Given the description of an element on the screen output the (x, y) to click on. 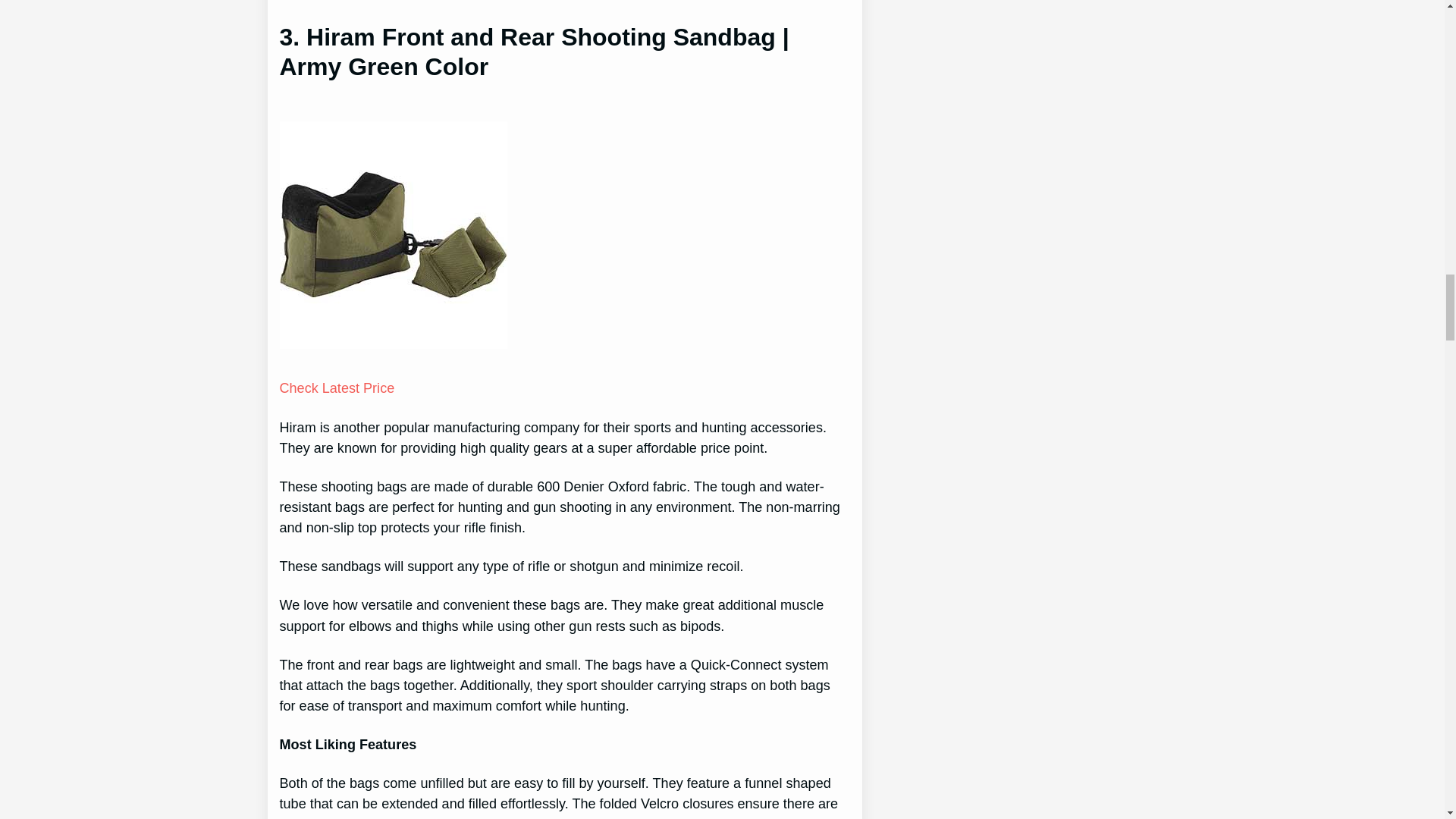
Check Latest Price (336, 387)
